Given the description of an element on the screen output the (x, y) to click on. 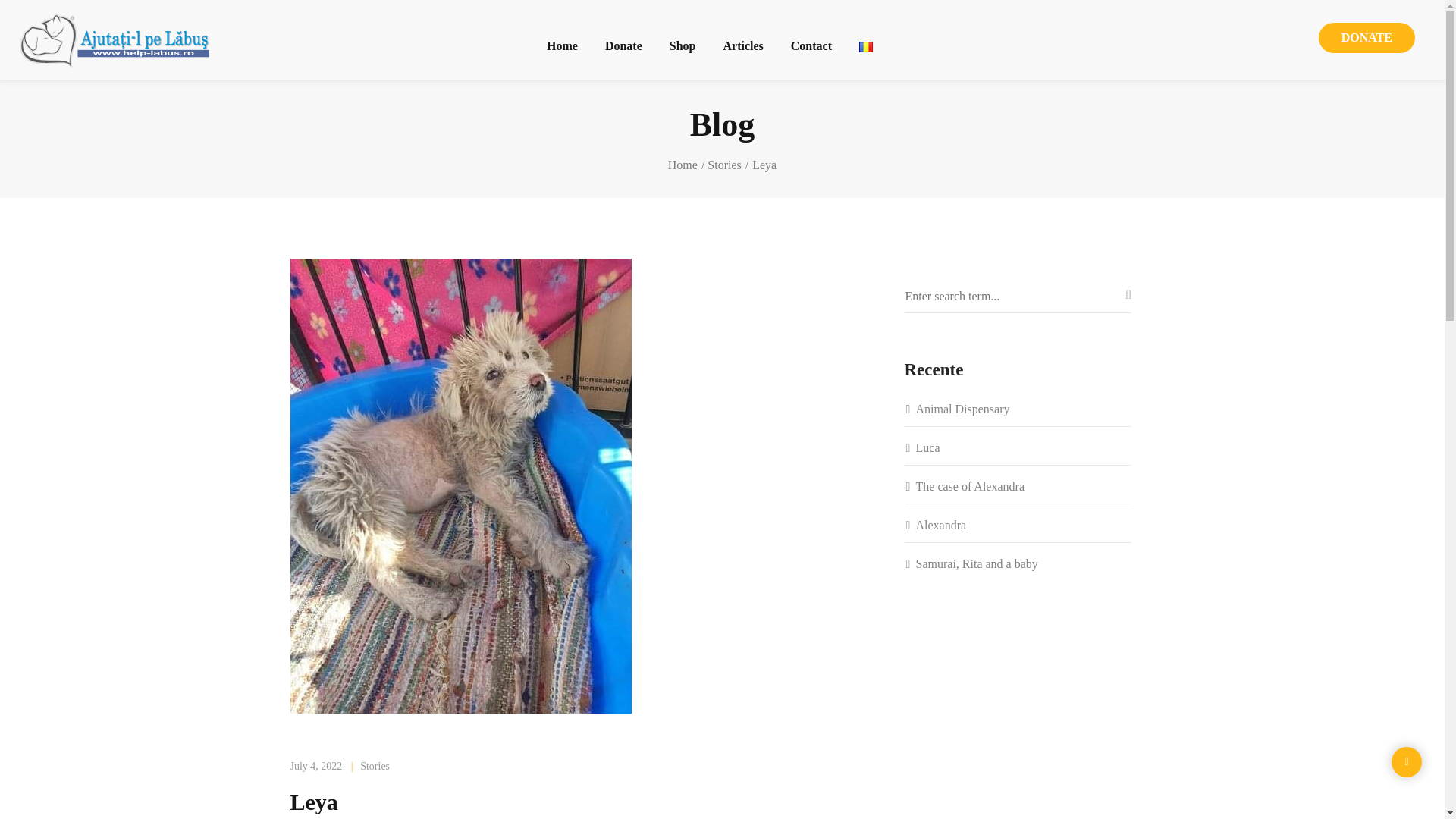
Stories (374, 766)
Home (686, 164)
Stories (727, 164)
Luca (1017, 447)
Samurai, Rita and a baby (1017, 563)
Donate (623, 43)
The case of Alexandra (1017, 486)
Animal Dispensary (1017, 408)
Alexandra (1017, 524)
DONATE (1367, 37)
Contact (811, 43)
Articles (742, 43)
